Given the description of an element on the screen output the (x, y) to click on. 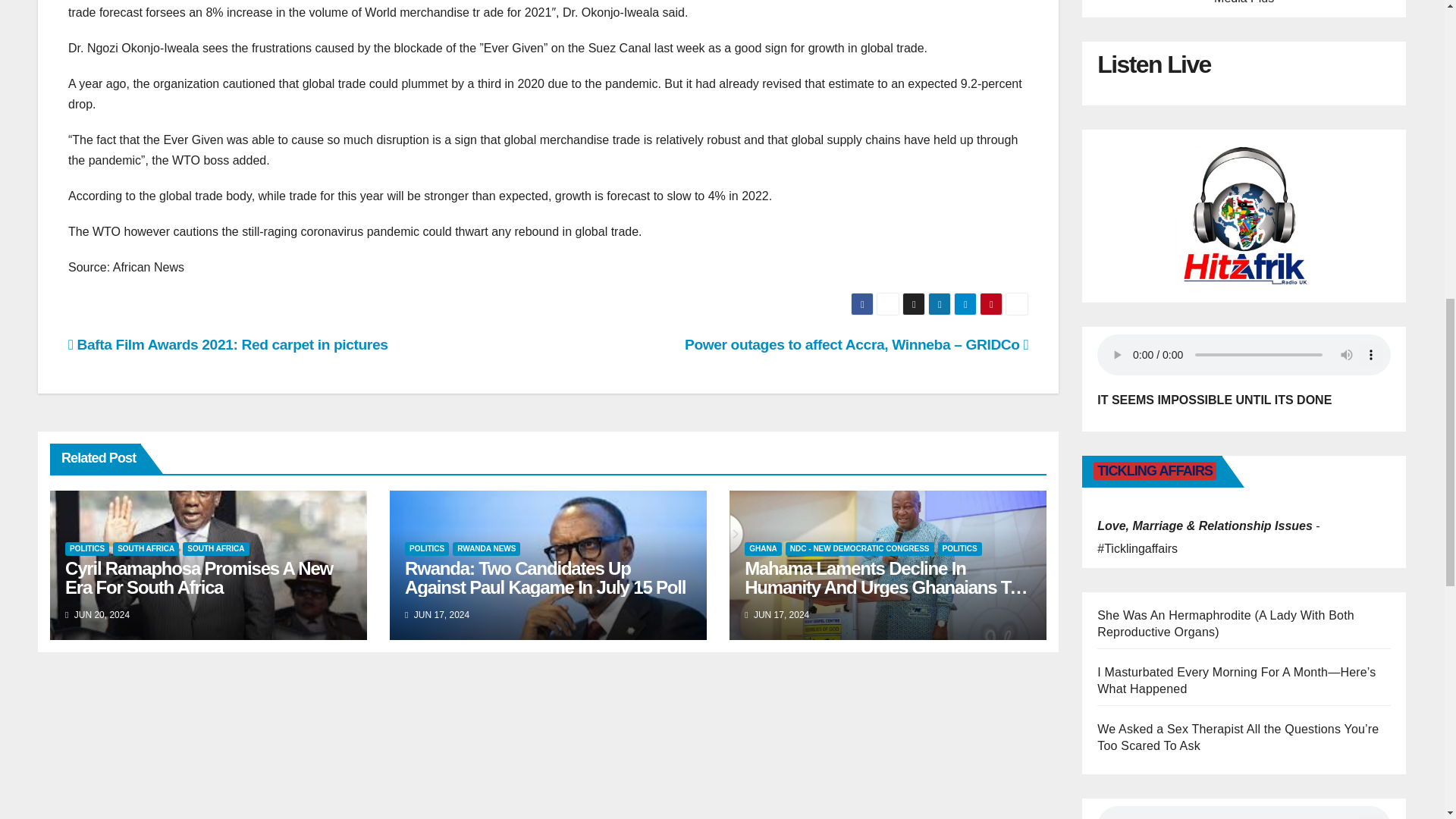
SOUTH AFRICA (146, 549)
Bafta Film Awards 2021: Red carpet in pictures (228, 344)
Cyril Ramaphosa Promises A New Era For South Africa (199, 577)
POLITICS (426, 549)
POLITICS (87, 549)
SOUTH AFRICA (215, 549)
RWANDA NEWS (485, 549)
